Given the description of an element on the screen output the (x, y) to click on. 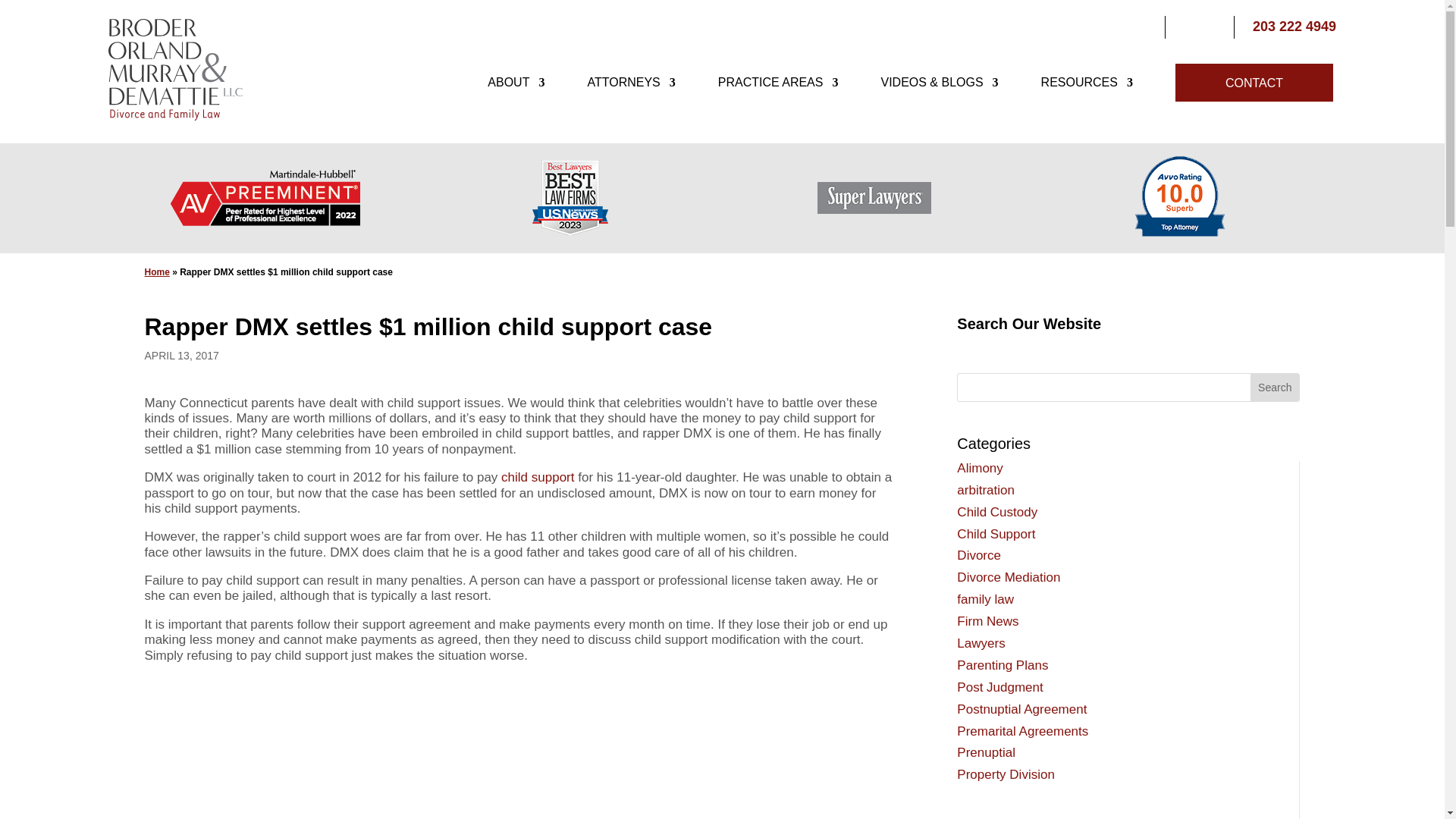
Martindale Hubble (264, 197)
Search (1274, 387)
Search (1274, 387)
Avvo Top Attorney (1178, 198)
Super Lawyers (873, 197)
2023 Best Law Firm (570, 197)
